Given the description of an element on the screen output the (x, y) to click on. 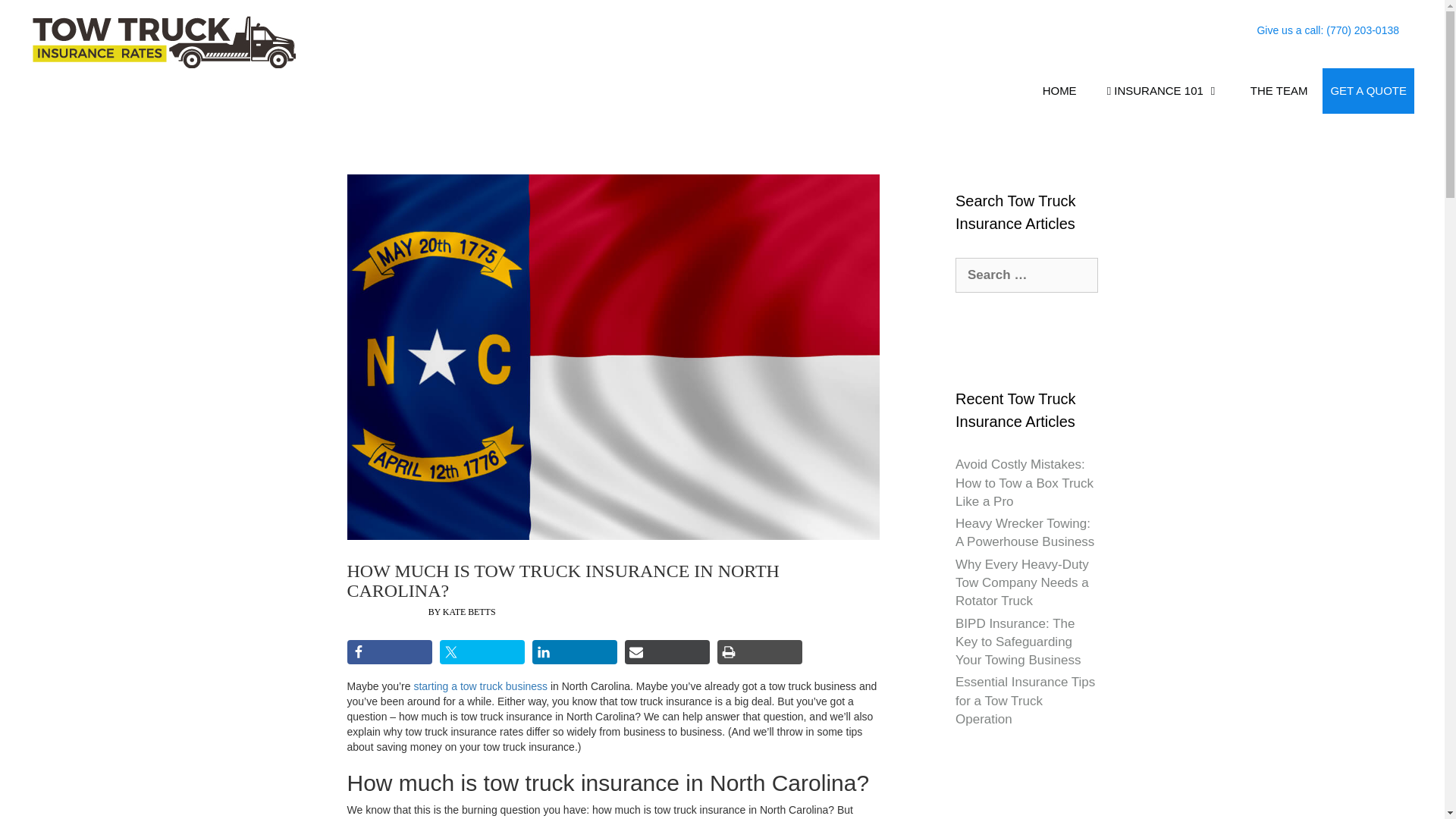
starting a tow truck business (480, 686)
Print this Page (759, 651)
HOME (1059, 90)
Share via Email (667, 651)
INSURANCE 101 (1163, 90)
Share on LinkedIn (574, 651)
KATE BETTS (469, 611)
THE TEAM (1278, 90)
View all posts by Kate Betts (469, 611)
Share on Twitter (481, 651)
